Given the description of an element on the screen output the (x, y) to click on. 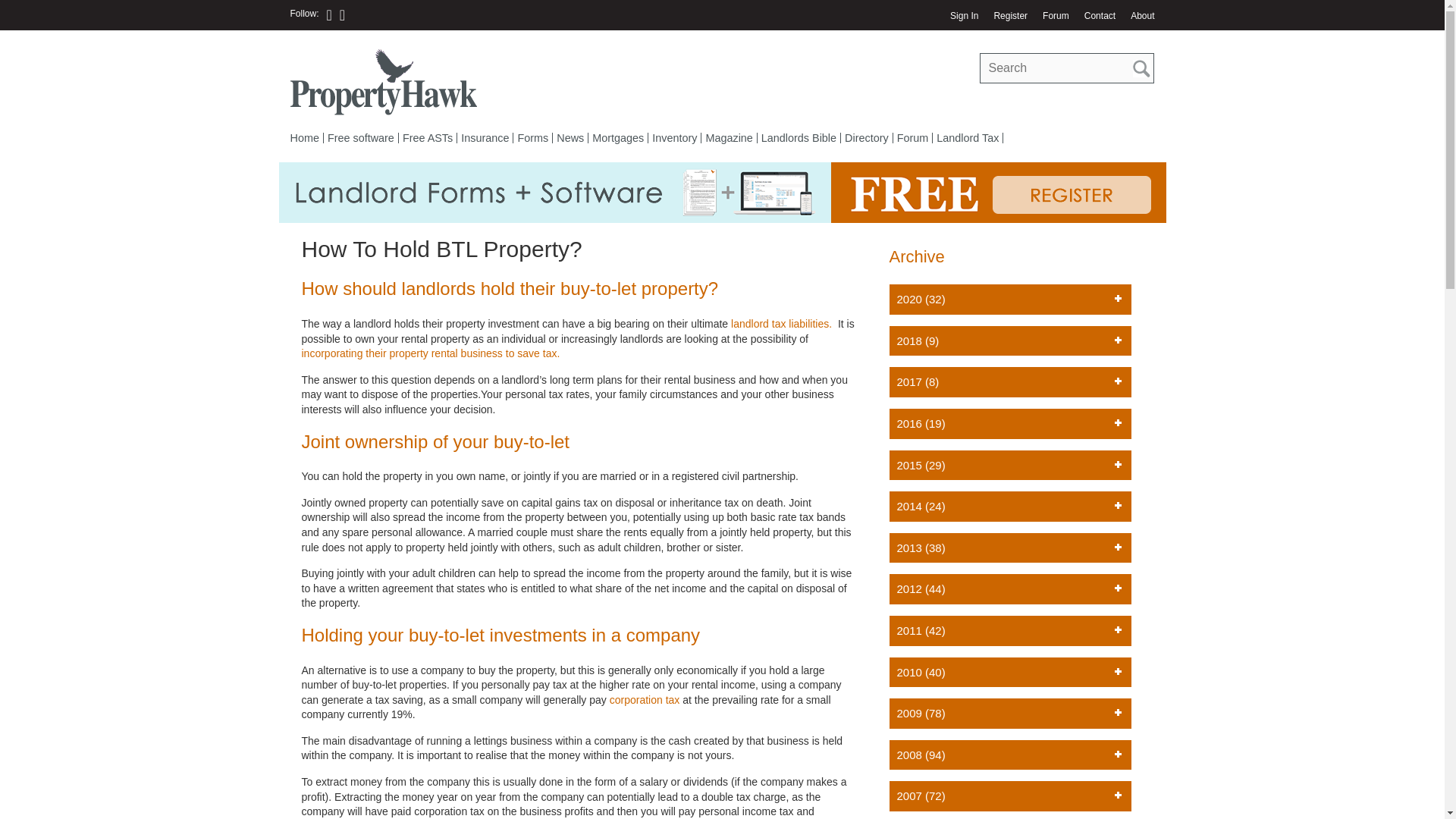
Forms (532, 137)
Sign In (963, 15)
Forum (1056, 15)
Directory (866, 137)
Inventory (673, 137)
About (1138, 15)
Mortgages (617, 137)
corporation tax (644, 699)
incorporating their property rental business to save tax. (430, 353)
Home (305, 137)
Landlords Bible (798, 137)
Free ASTs (427, 137)
Landlord Tax (968, 137)
Insurance (484, 137)
landlord tax liabilities. (780, 323)
